Given the description of an element on the screen output the (x, y) to click on. 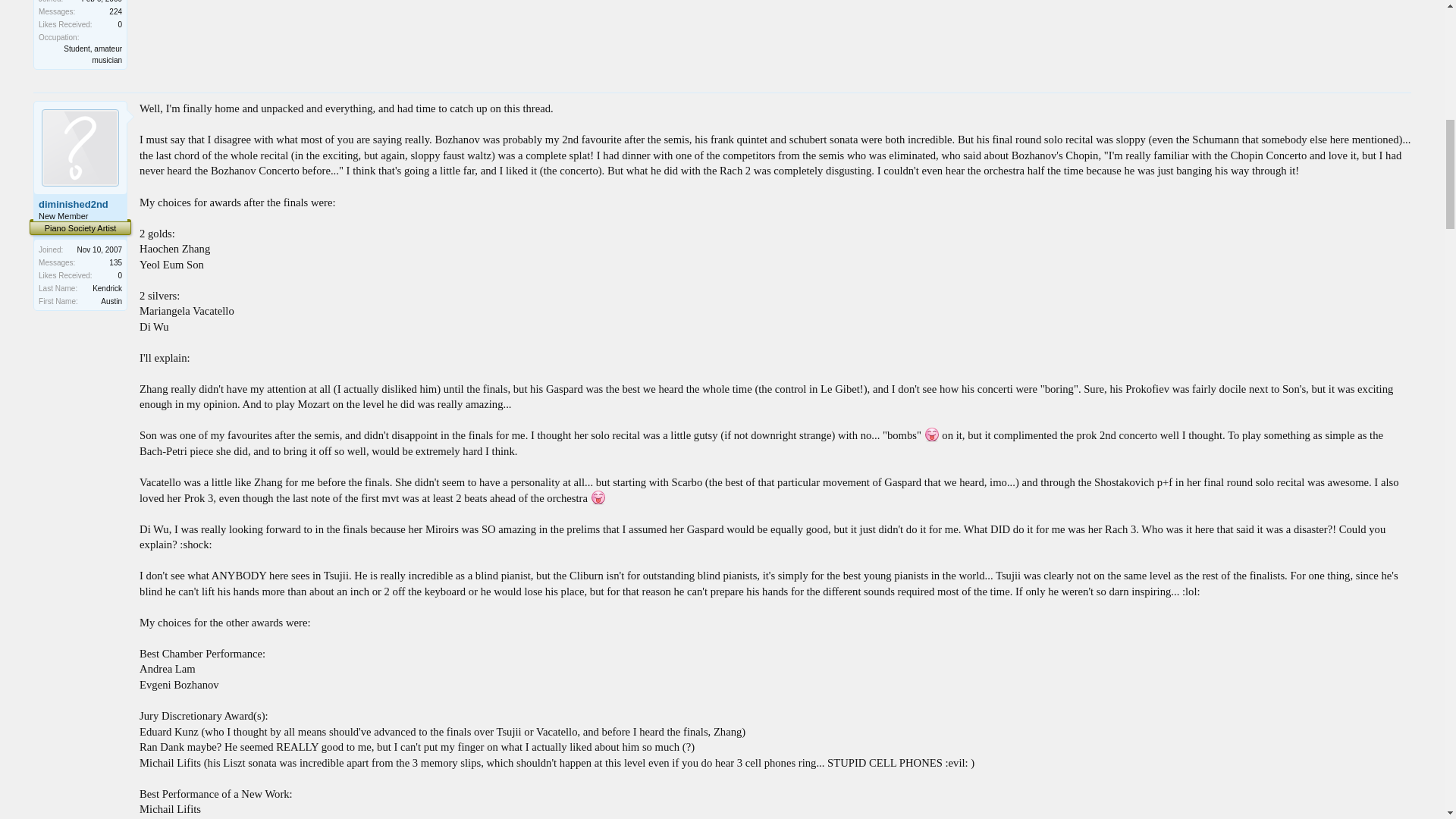
diminished2nd (80, 204)
135 (115, 262)
Stick Out Tongue    :p (931, 434)
Stick Out Tongue    :p (598, 497)
224 (115, 11)
